Given the description of an element on the screen output the (x, y) to click on. 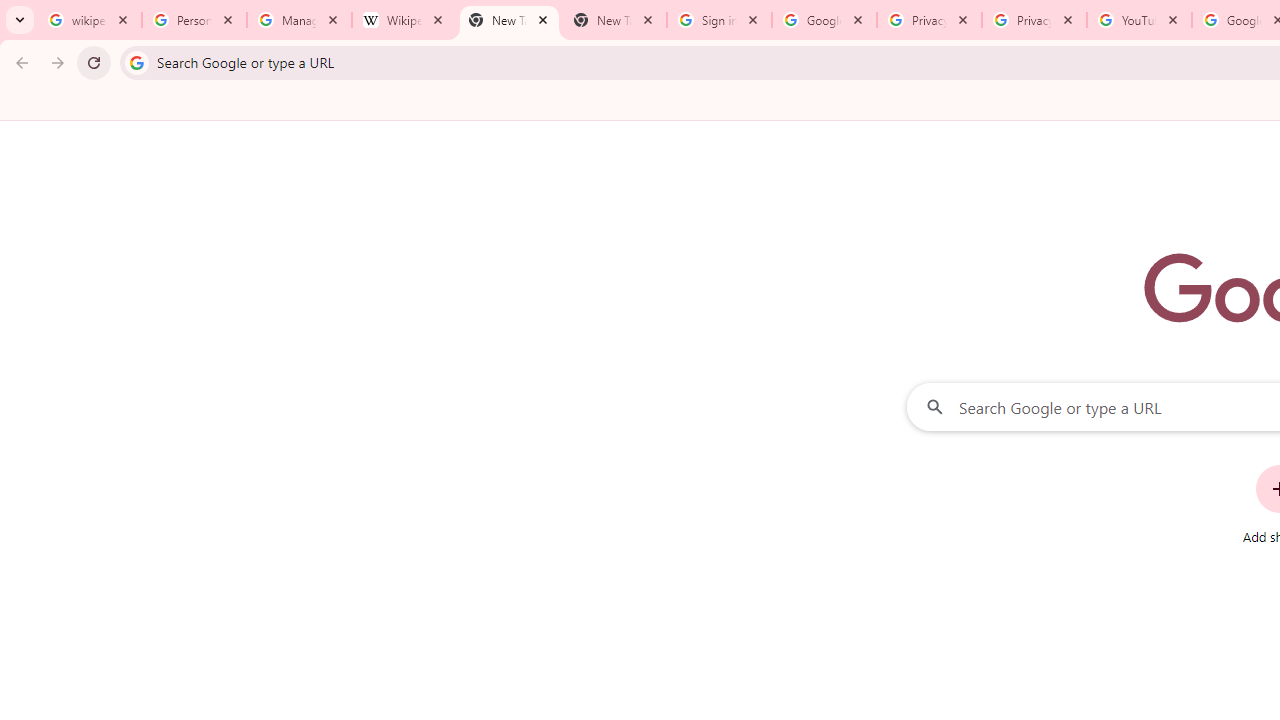
Manage your Location History - Google Search Help (299, 20)
New Tab (613, 20)
New Tab (509, 20)
Google Drive: Sign-in (823, 20)
Personalization & Google Search results - Google Search Help (194, 20)
Sign in - Google Accounts (718, 20)
